Given the description of an element on the screen output the (x, y) to click on. 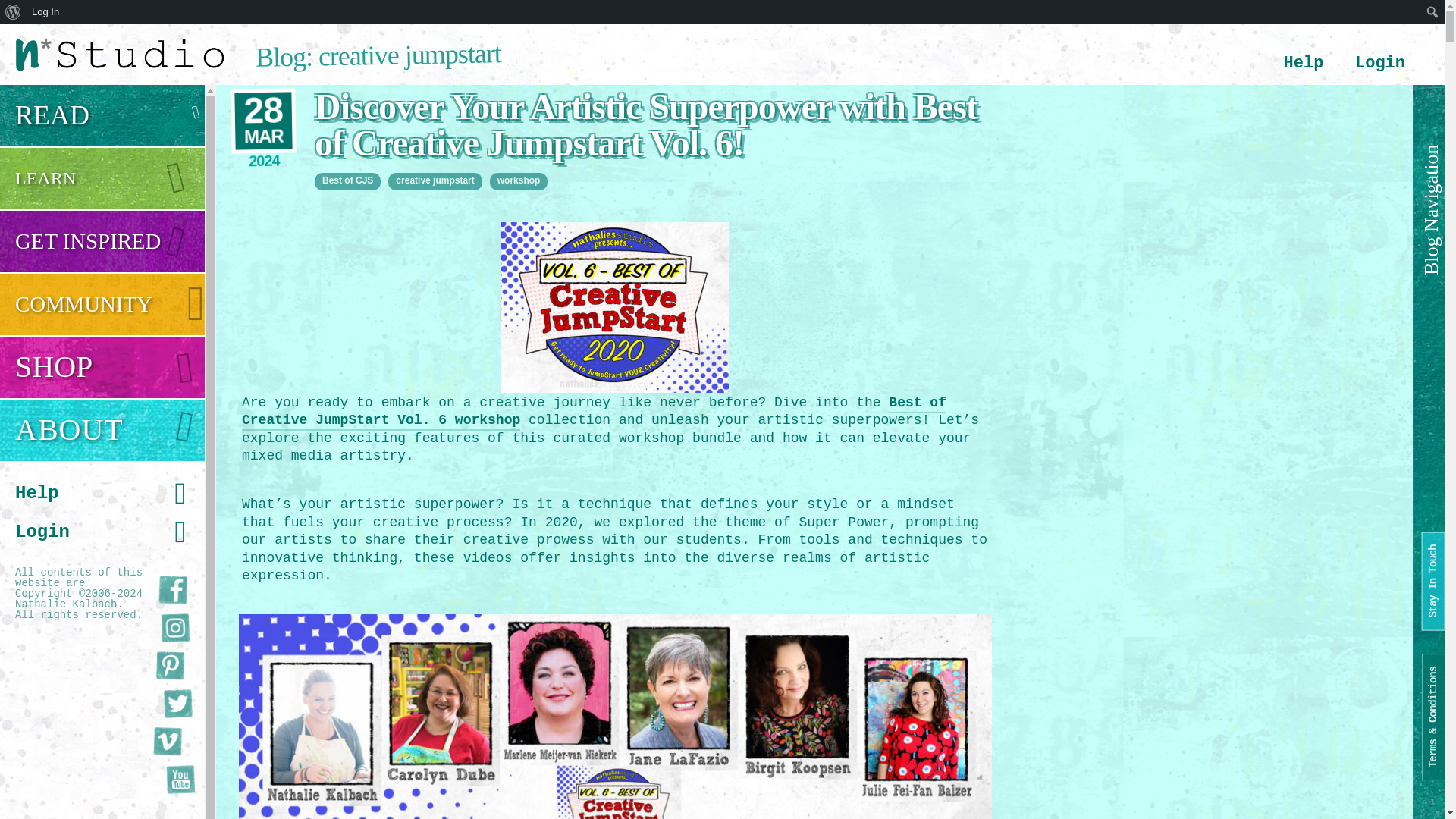
READ (102, 115)
Help (1303, 63)
LEARN (102, 178)
Login (1380, 63)
GET INSPIRED (102, 240)
COMMUNITY (102, 303)
